Given the description of an element on the screen output the (x, y) to click on. 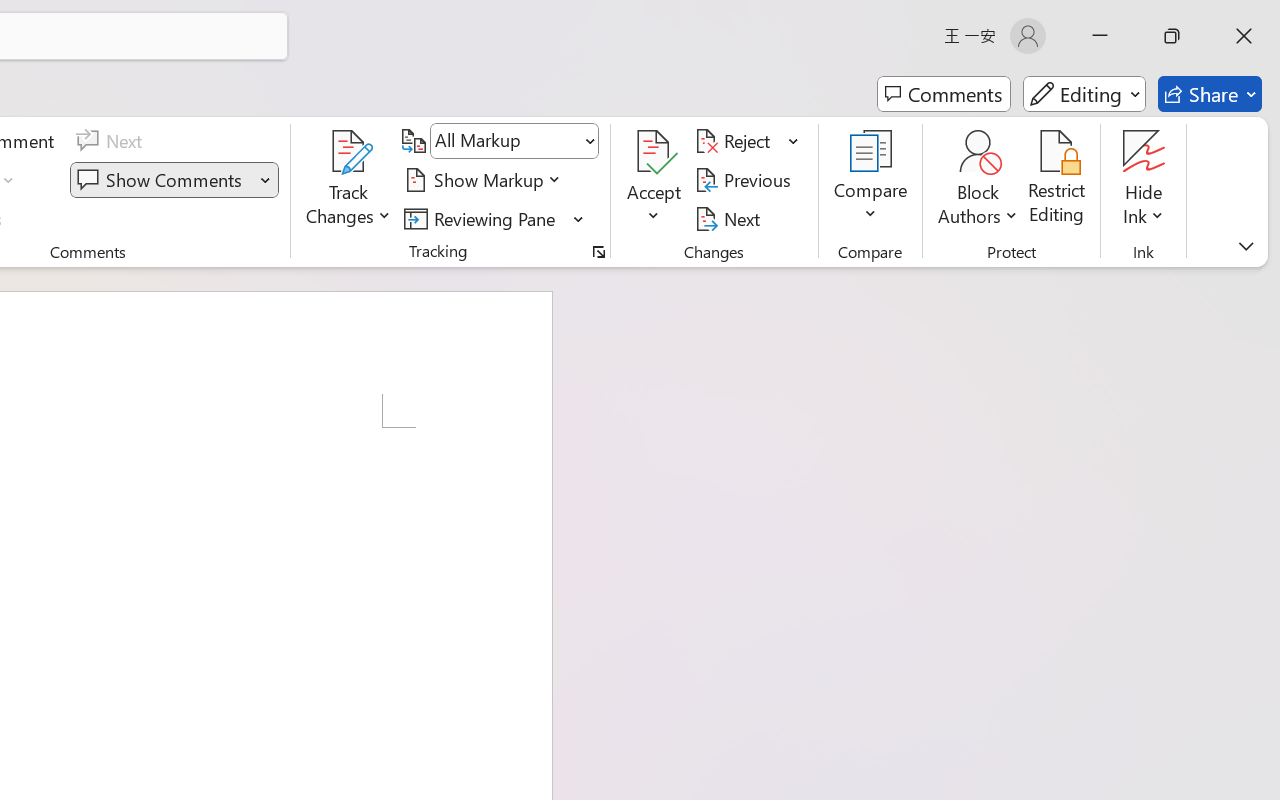
Change Tracking Options... (598, 252)
